Given the description of an element on the screen output the (x, y) to click on. 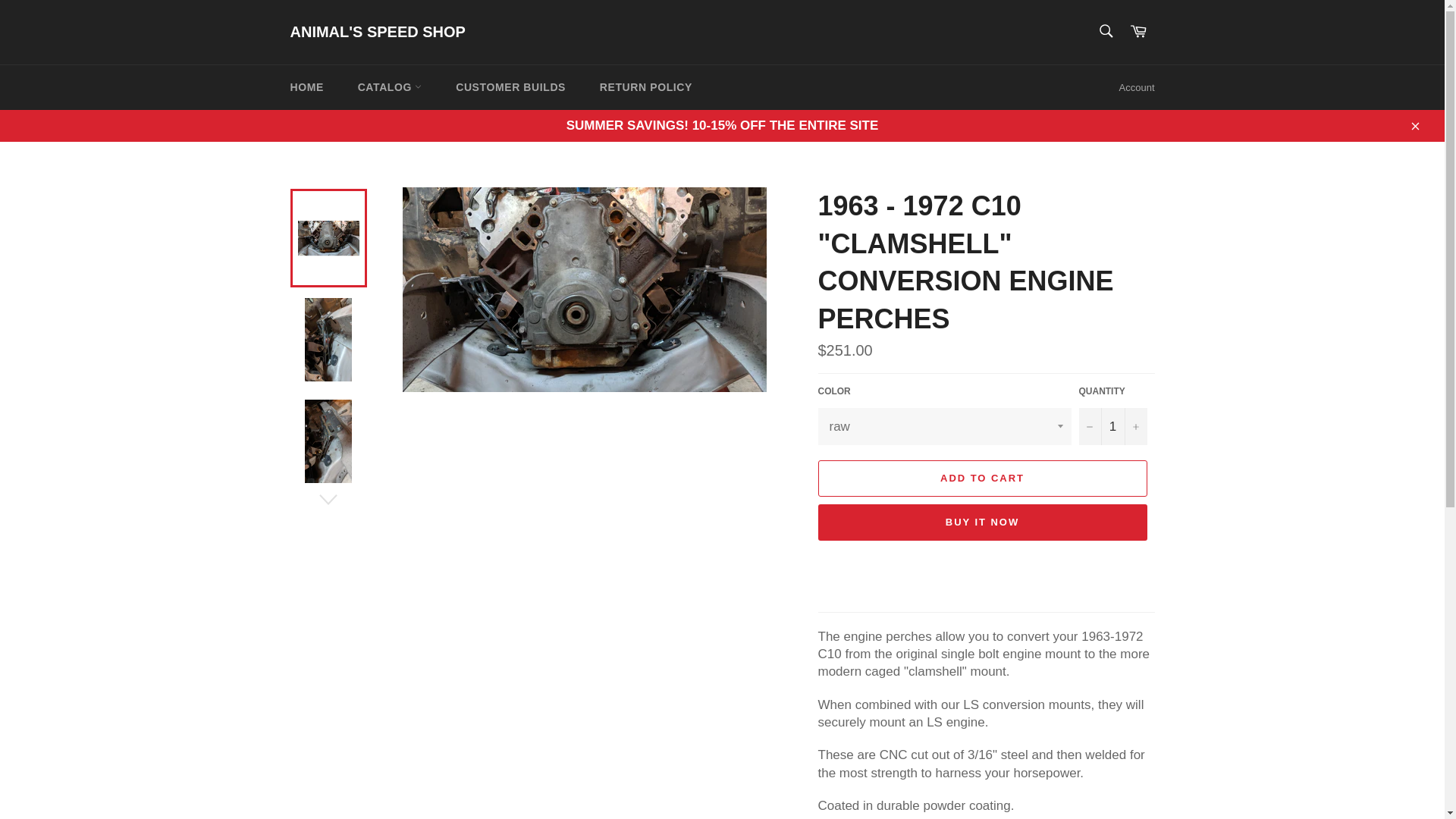
Search (1104, 30)
ANIMAL'S SPEED SHOP (376, 32)
HOME (306, 87)
CUSTOMER BUILDS (510, 87)
1 (1112, 426)
RETURN POLICY (646, 87)
CATALOG (390, 87)
Cart (1138, 32)
Close (1414, 124)
Account (1136, 87)
